Given the description of an element on the screen output the (x, y) to click on. 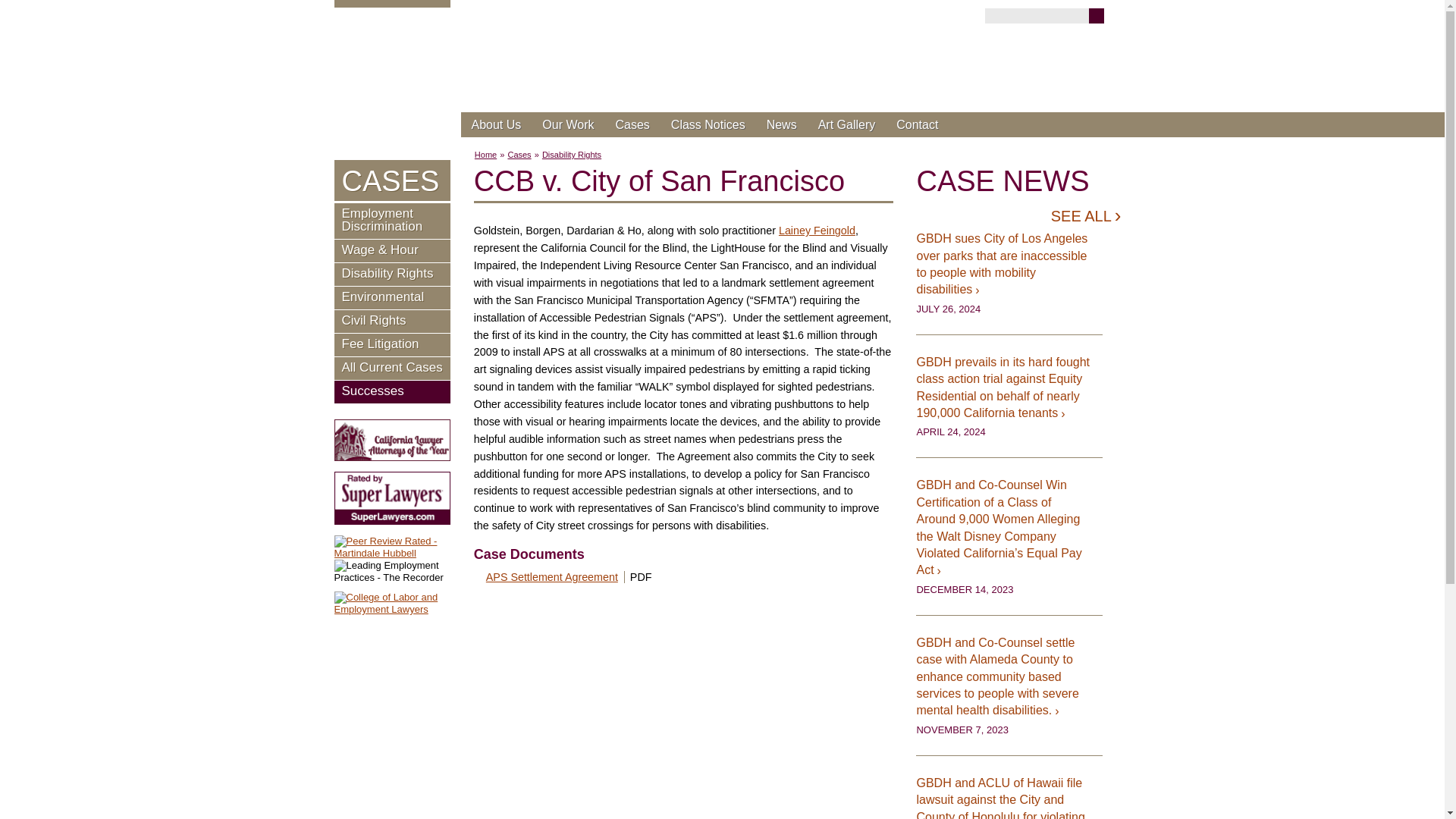
Contact (917, 124)
Search (1096, 14)
Skip to content (476, 129)
Site will open in a new tab or window (817, 230)
Employment Discrimination (391, 221)
Cases (518, 153)
Full news story (1008, 527)
CASES (391, 179)
Cases (631, 124)
Skip to content (476, 129)
